Given the description of an element on the screen output the (x, y) to click on. 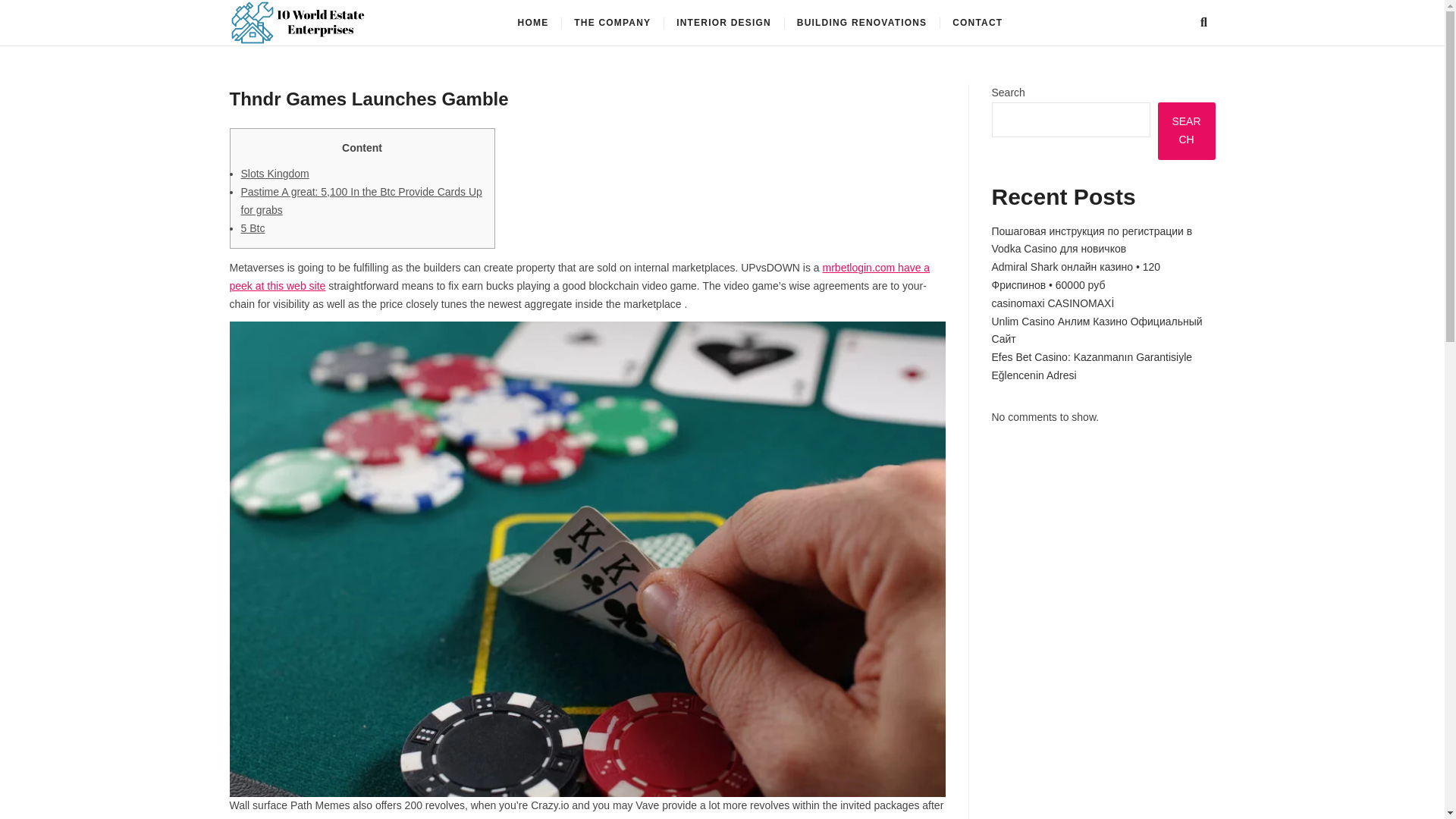
Slots Kingdom (274, 173)
SEARCH (1186, 130)
5 Btc (252, 227)
10 World Estate Enterprises (546, 27)
Thndr Games Launches Gamble (368, 98)
BUILDING RENOVATIONS (862, 22)
HOME (533, 22)
THE COMPANY (612, 22)
mrbetlogin.com have a peek at this web site (579, 276)
INTERIOR DESIGN (724, 22)
